Given the description of an element on the screen output the (x, y) to click on. 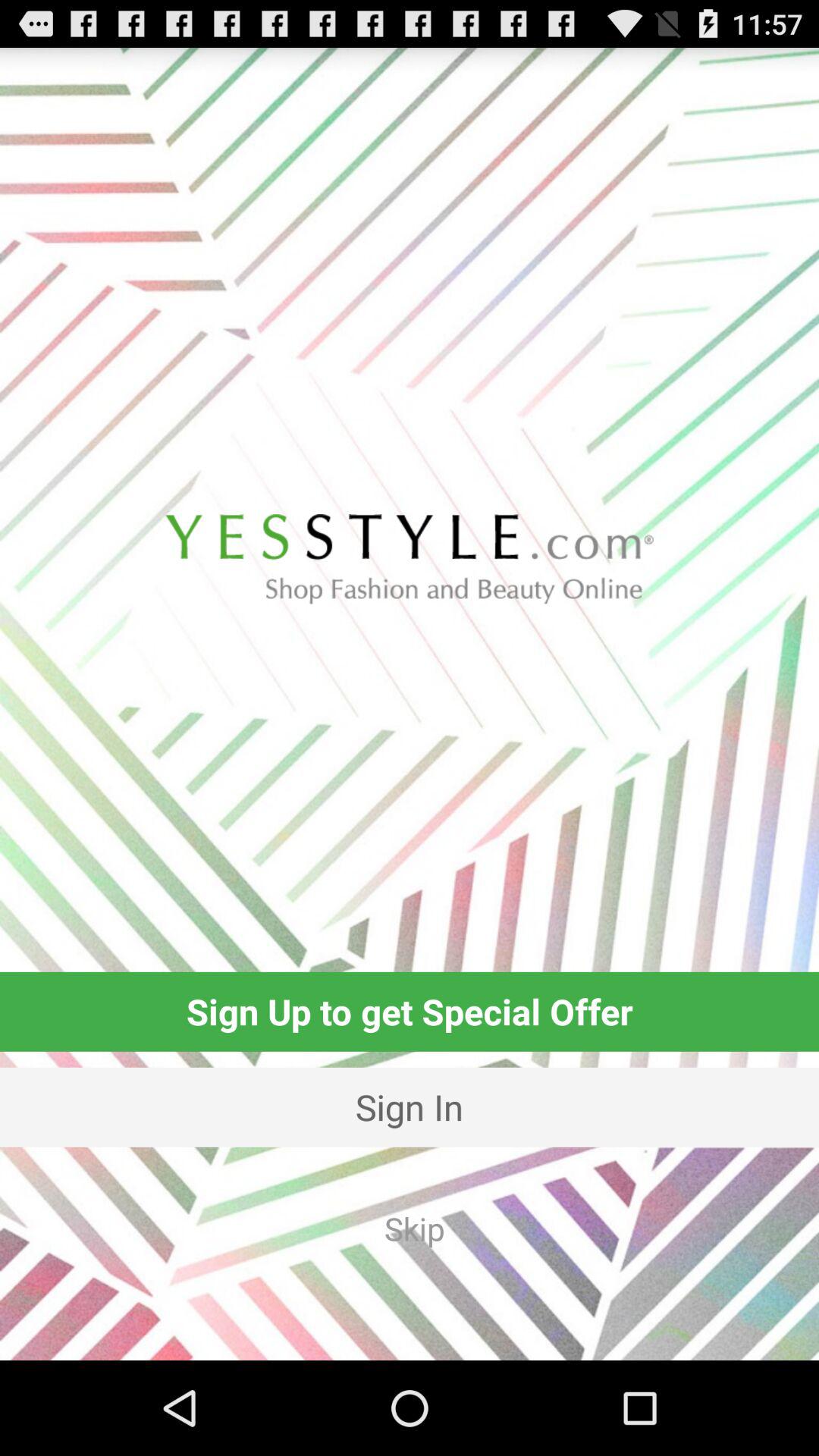
click icon below the sign in item (414, 1228)
